Given the description of an element on the screen output the (x, y) to click on. 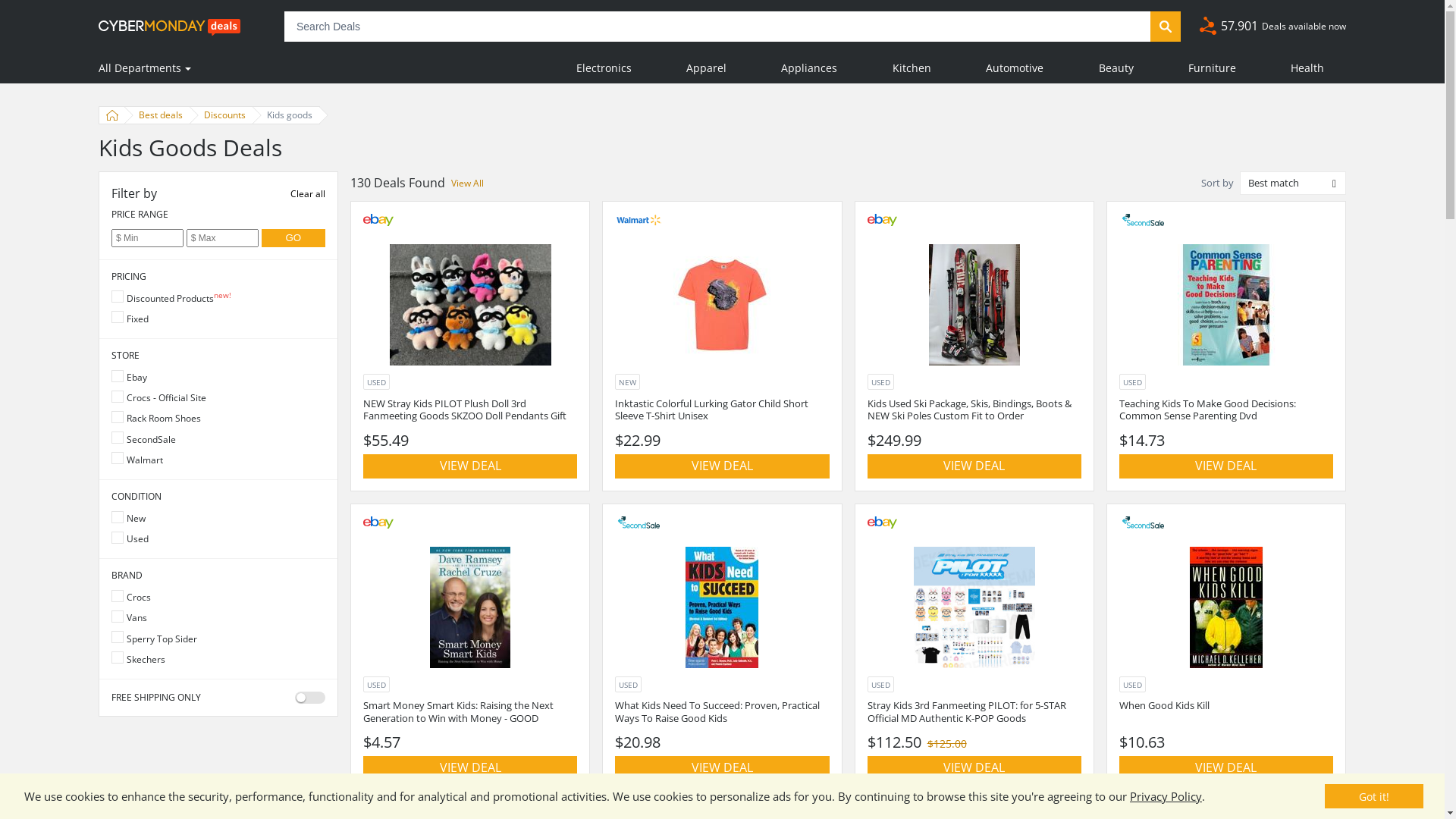
Health Element type: text (1307, 67)
Best deals Element type: text (157, 115)
Appliances Element type: text (809, 67)
Furniture Element type: text (1212, 67)
Automotive Element type: text (1014, 67)
Kitchen Element type: text (911, 67)
Electronics Element type: text (603, 67)
GO Element type: text (293, 238)
Beauty Element type: text (1115, 67)
Apparel Element type: text (706, 67)
View All Element type: text (467, 182)
Discounts Element type: text (221, 115)
Privacy Policy Element type: text (1165, 795)
Kids goods Element type: text (286, 115)
USED
When Good Kids Kill
$10.63
VIEW DEAL Element type: text (1226, 648)
